Given the description of an element on the screen output the (x, y) to click on. 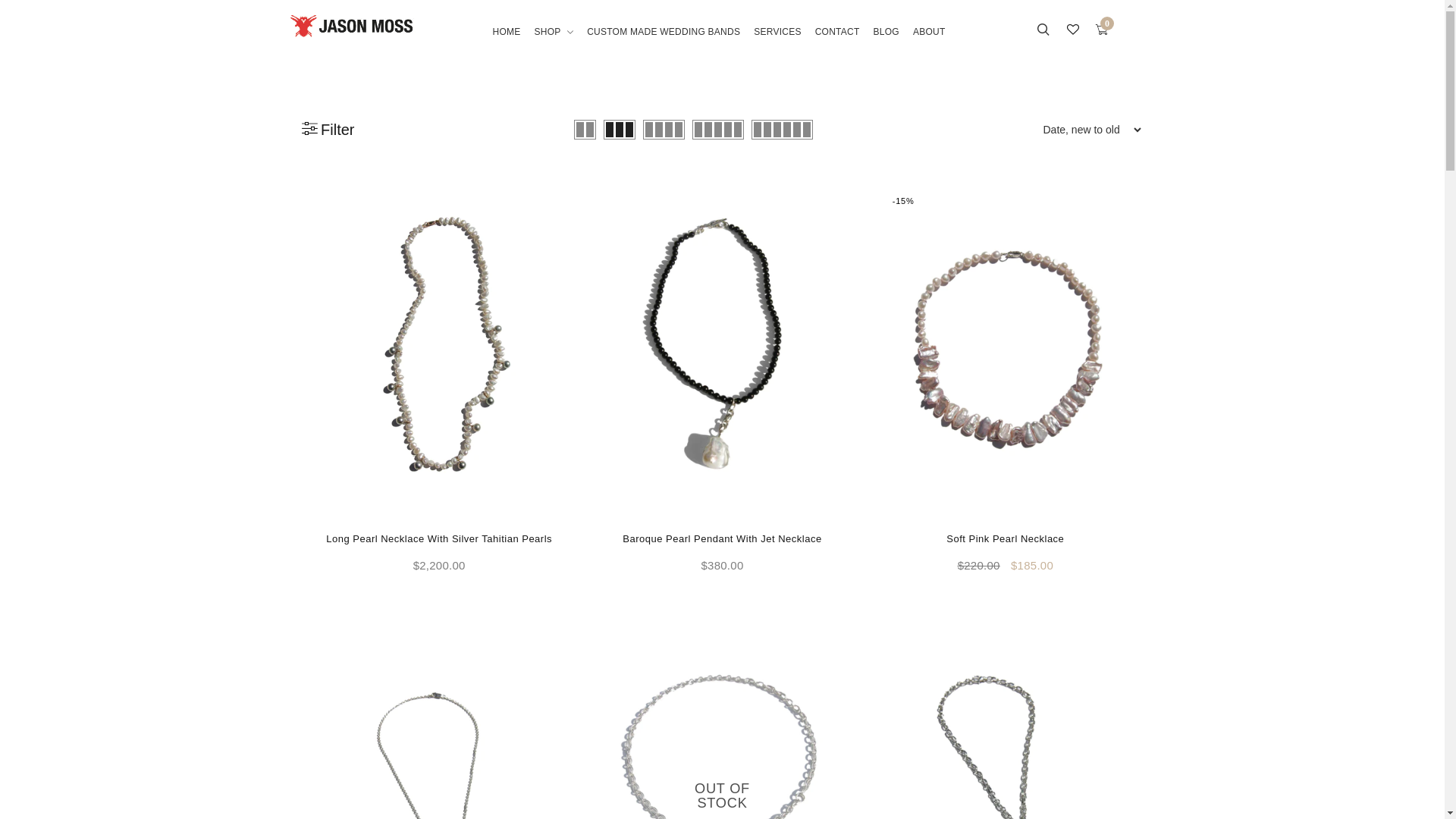
5 col Element type: text (717, 129)
0 Element type: text (1101, 31)
Soft Pink Pearl Necklace Element type: text (1004, 538)
Long Pearl Necklace With Silver Tahitian Pearls Element type: text (439, 538)
SHOP Element type: text (553, 42)
SERVICES Element type: text (776, 42)
Baroque Pearl Pendant With Jet Necklace Element type: text (721, 538)
2 col Element type: text (585, 129)
4 col Element type: text (663, 129)
My Wishlist Element type: hover (1072, 31)
CONTACT Element type: text (837, 42)
BLOG Element type: text (886, 42)
HOME Element type: text (509, 42)
ABOUT Element type: text (929, 42)
CUSTOM MADE WEDDING BANDS Element type: text (663, 42)
Filter Element type: text (327, 129)
6 col Element type: text (781, 129)
3 col Element type: text (619, 129)
